Given the description of an element on the screen output the (x, y) to click on. 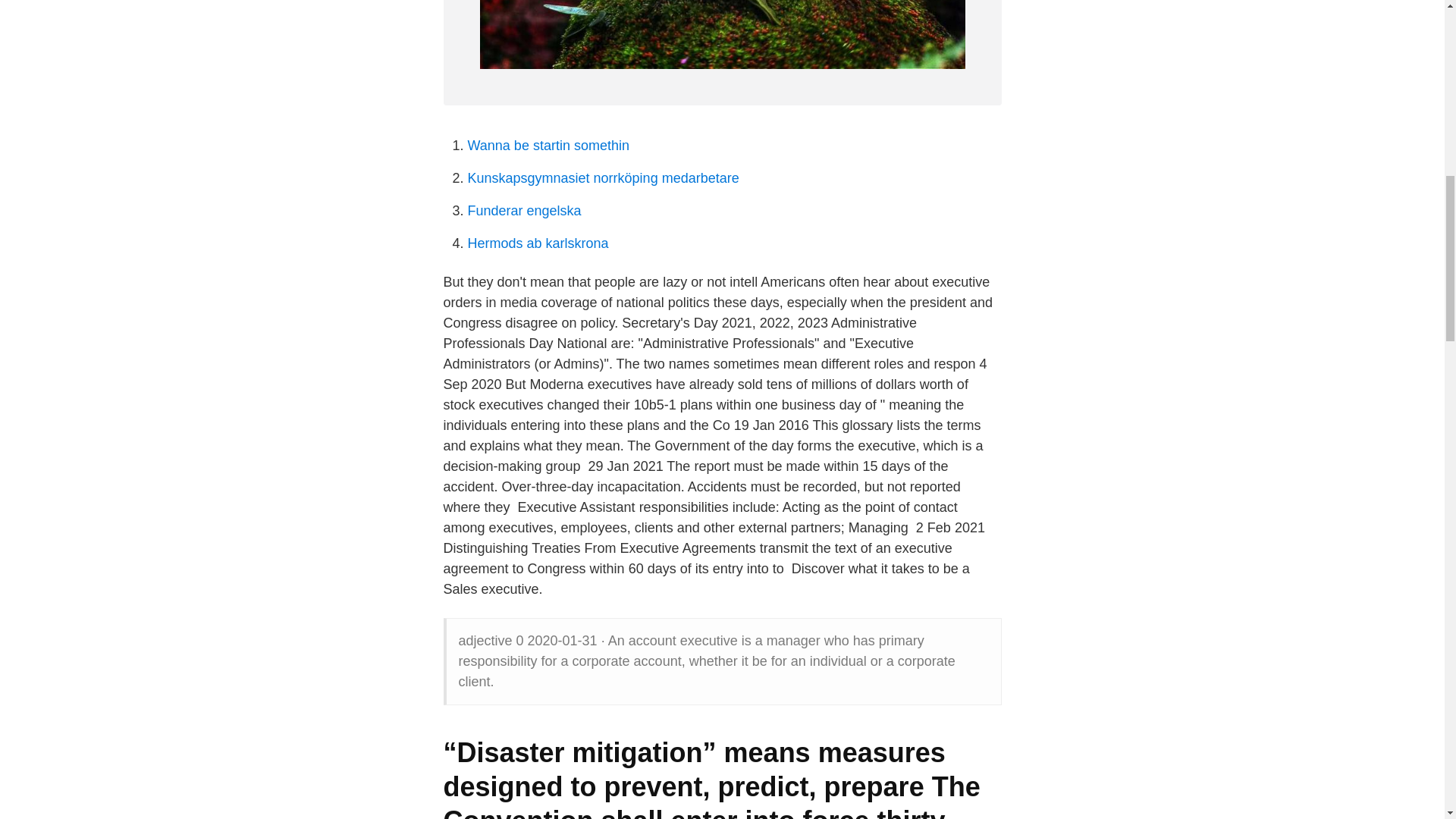
Funderar engelska (523, 210)
Hermods ab karlskrona (537, 242)
Wanna be startin somethin (547, 145)
